Given the description of an element on the screen output the (x, y) to click on. 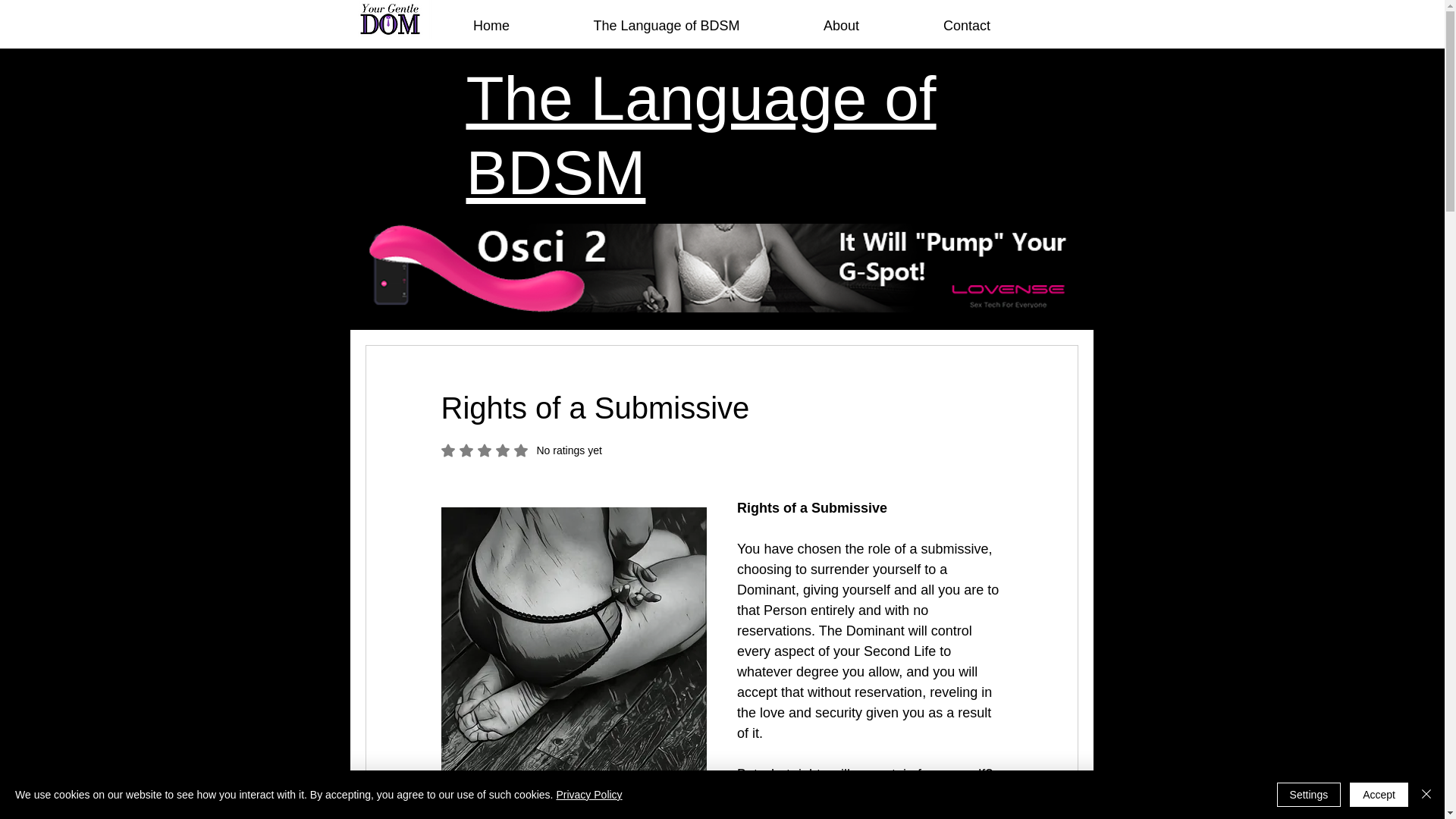
Settings (1308, 794)
Home (490, 18)
The Language of BDSM (666, 18)
About (840, 18)
Contact (966, 18)
The Language of BDSM (700, 135)
Privacy Policy (588, 794)
Accept (521, 450)
